Given the description of an element on the screen output the (x, y) to click on. 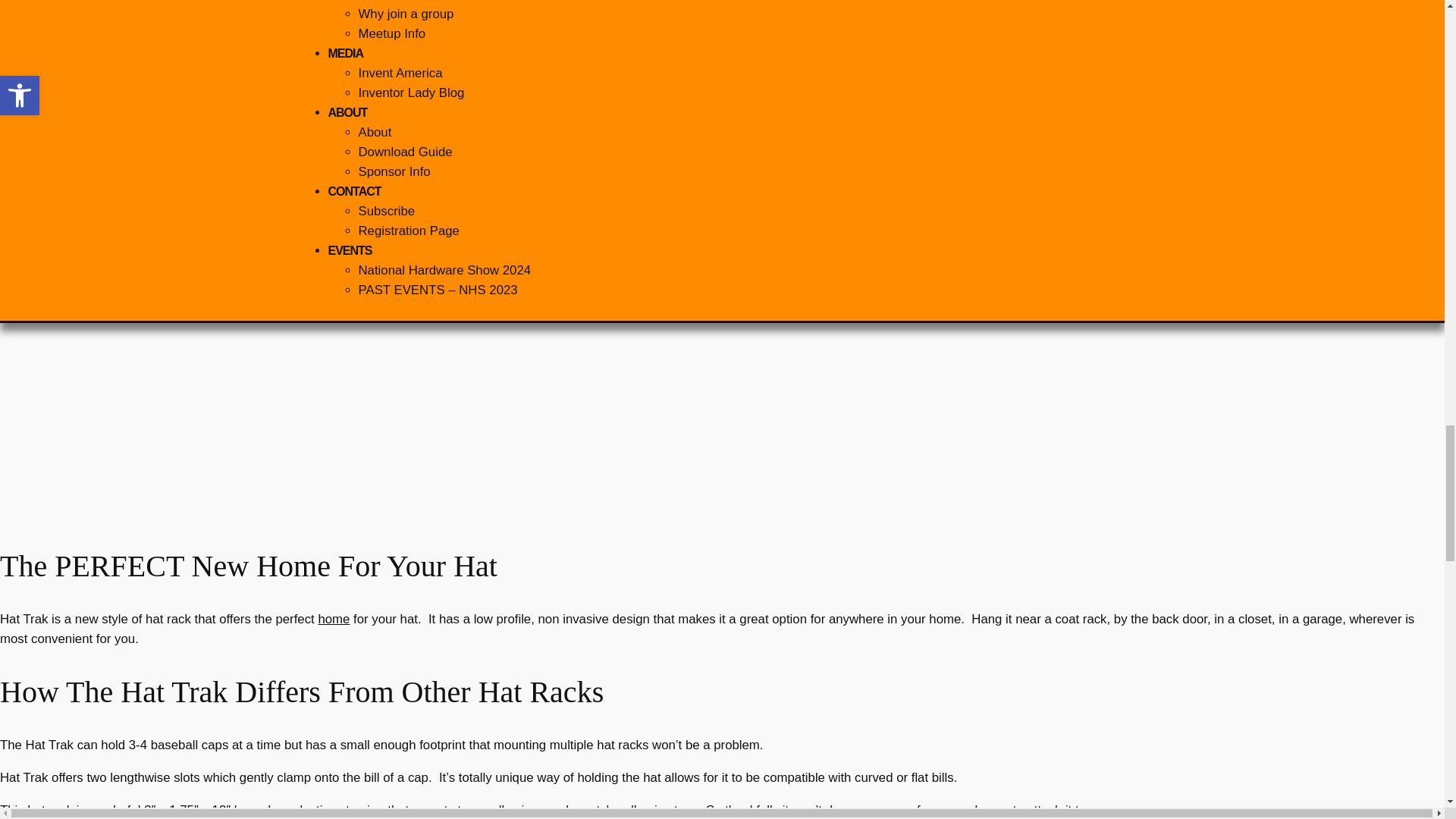
Advertise on the Radio (393, 171)
Sign up for Newsletter (386, 210)
Be on the Radio (408, 230)
More about Rita Crompton (374, 132)
